Given the description of an element on the screen output the (x, y) to click on. 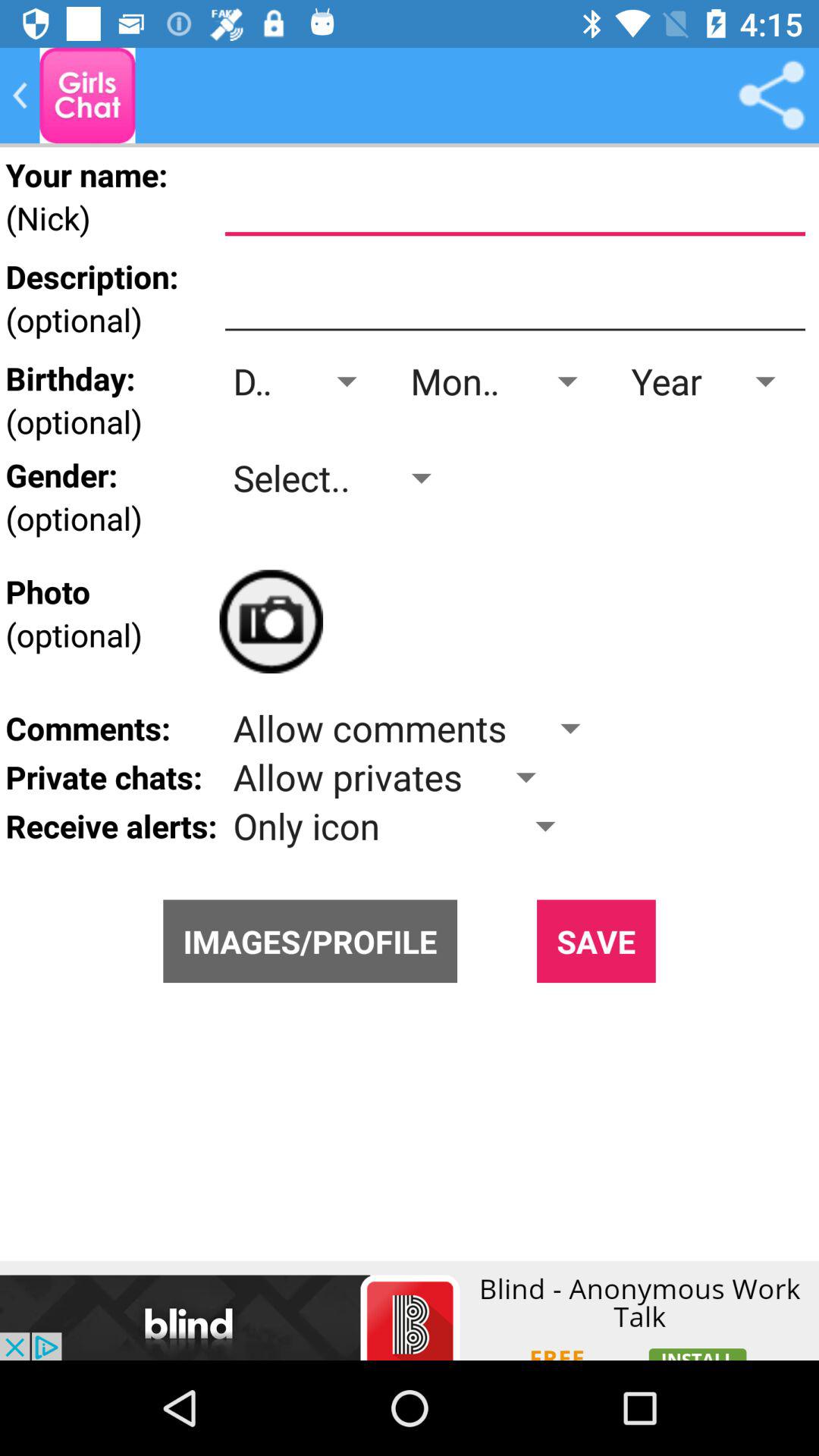
go back to previous (87, 95)
